Given the description of an element on the screen output the (x, y) to click on. 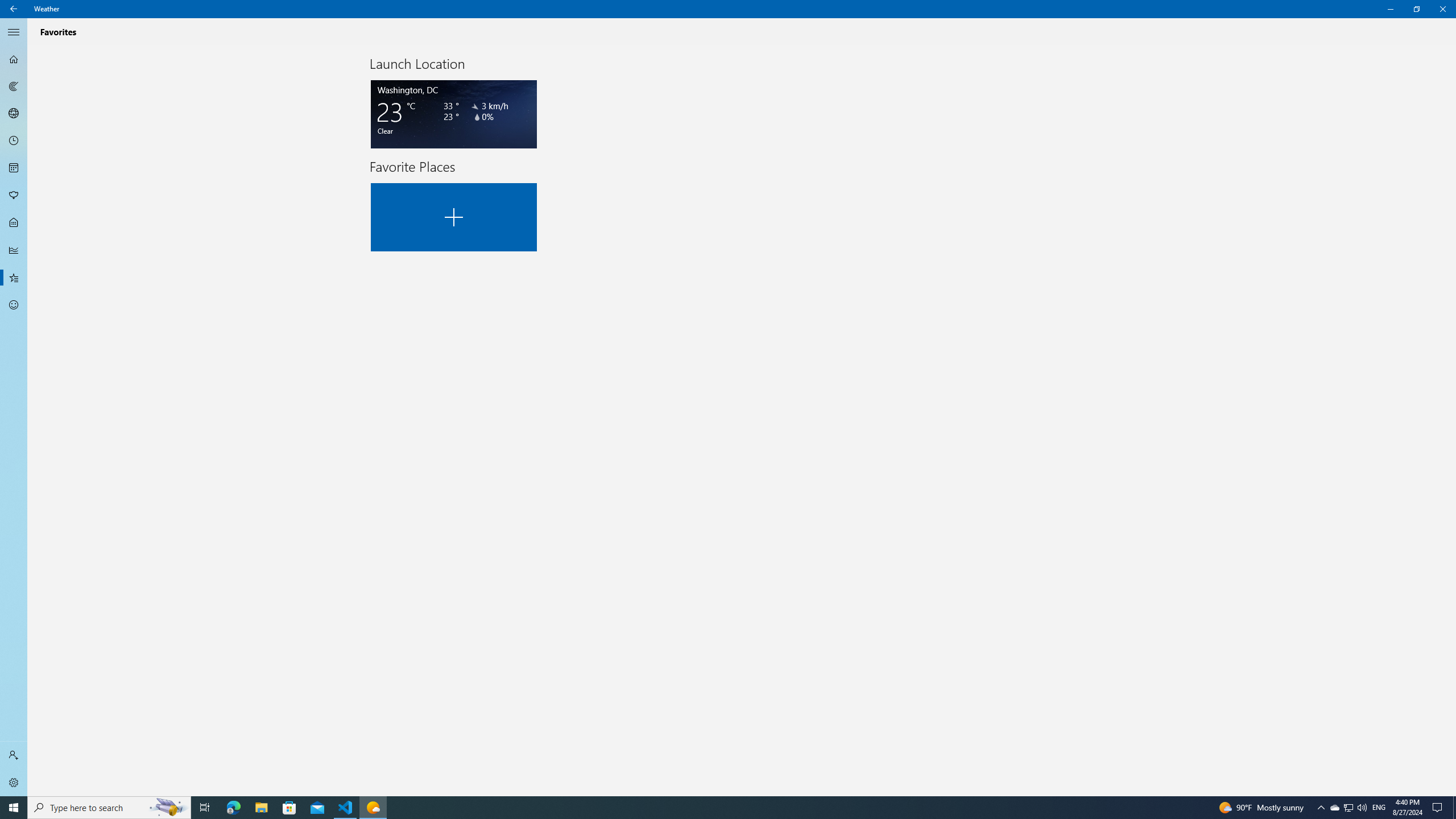
Show desktop (1454, 807)
Sign in (13, 755)
Q2790: 100% (1361, 807)
User Promoted Notification Area (1347, 807)
Microsoft Edge (233, 807)
Monthly Forecast - Not Selected (13, 167)
Historical Weather - Not Selected (13, 249)
Life - Not Selected (13, 222)
Back (13, 9)
Restore Weather (1416, 9)
3D Maps - Not Selected (13, 113)
Start (1347, 807)
Settings (13, 807)
